Given the description of an element on the screen output the (x, y) to click on. 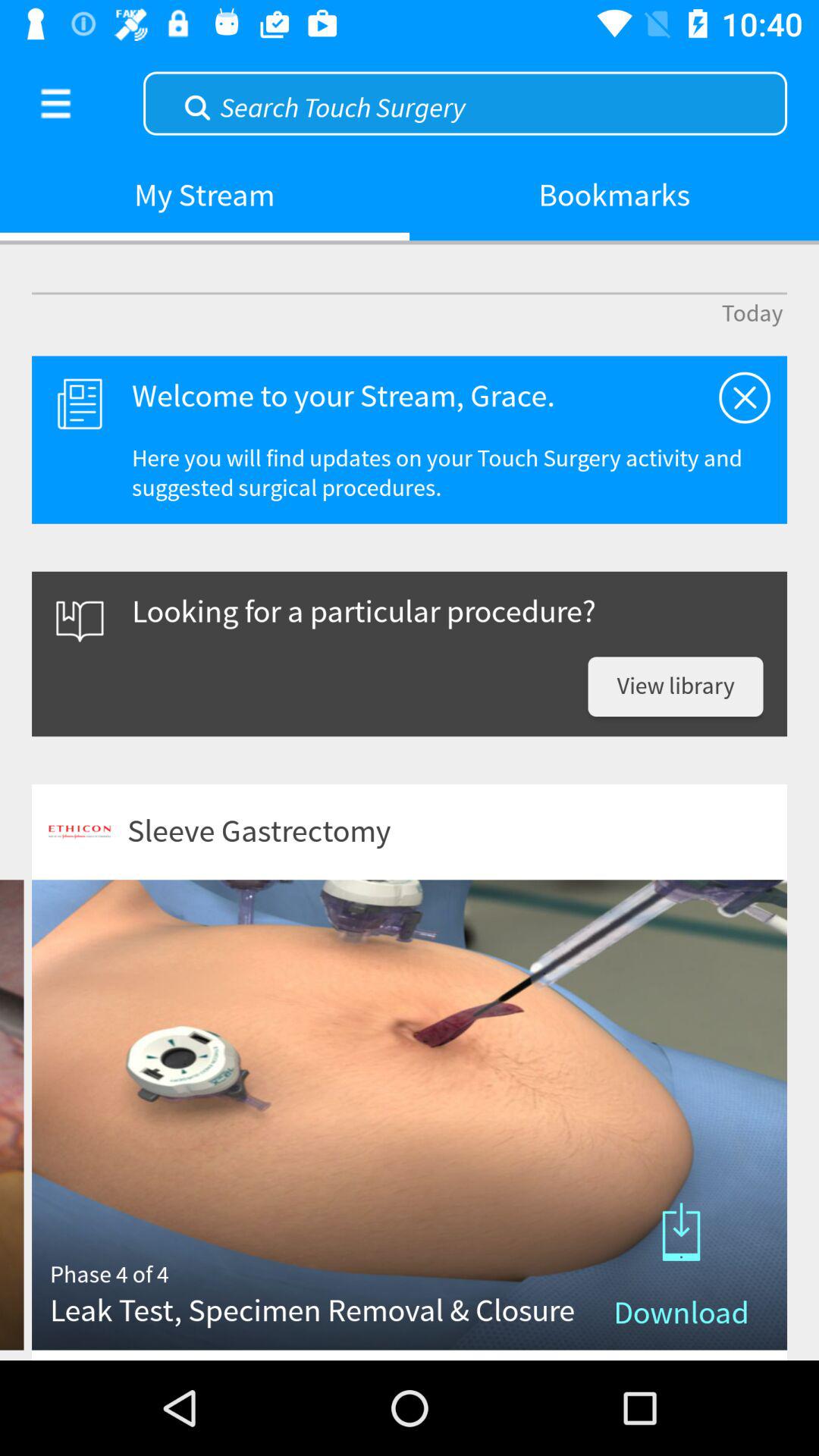
this is a medical surgery (744, 397)
